Given the description of an element on the screen output the (x, y) to click on. 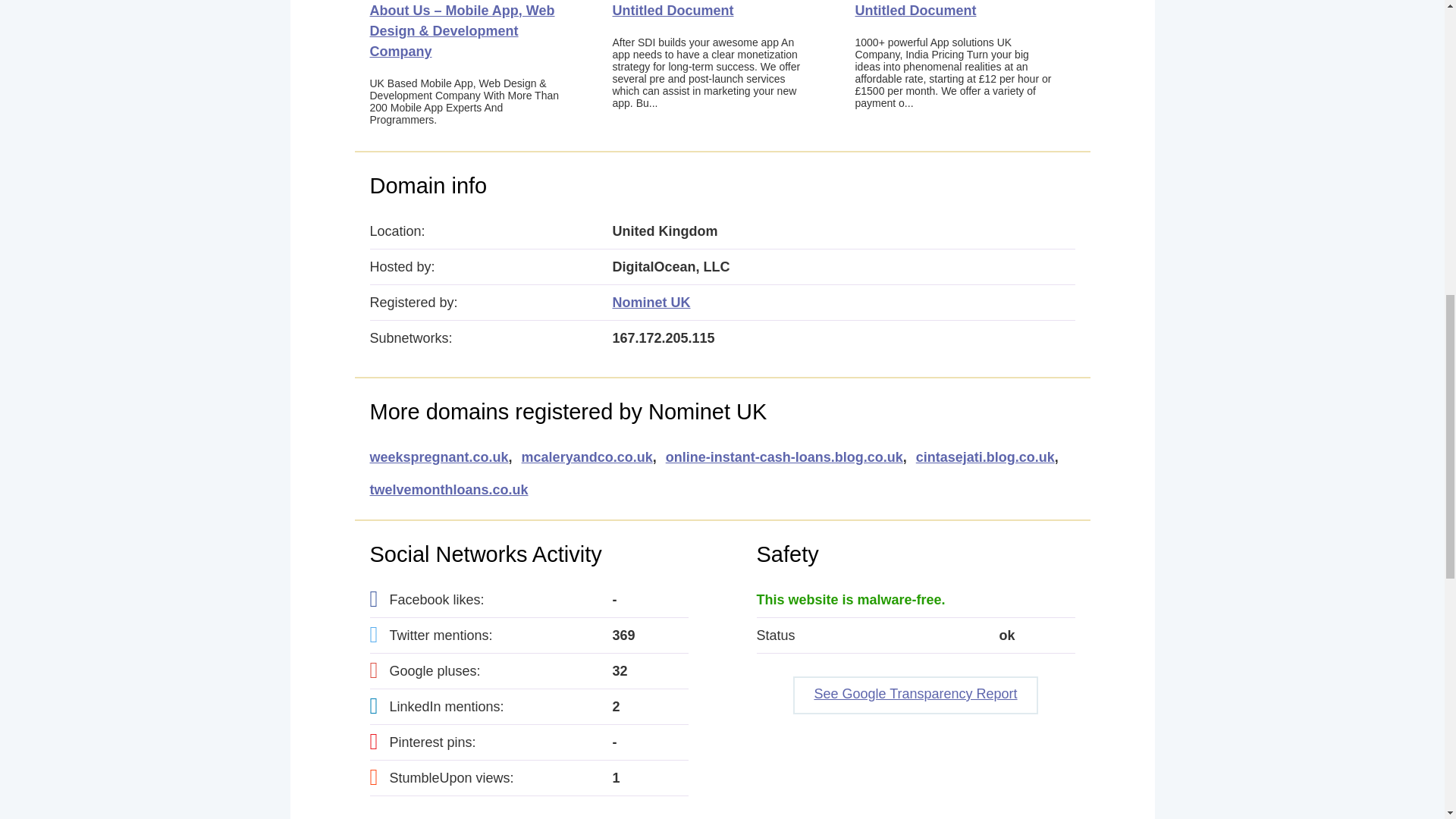
twelvemonthloans.co.uk (448, 489)
Nominet UK (651, 302)
See Google Transparency Report (914, 695)
weekspregnant.co.uk (438, 457)
cintasejati.blog.co.uk (984, 457)
Untitled Document (672, 10)
Untitled Document (916, 10)
online-instant-cash-loans.blog.co.uk (783, 457)
mcaleryandco.co.uk (586, 457)
